Given the description of an element on the screen output the (x, y) to click on. 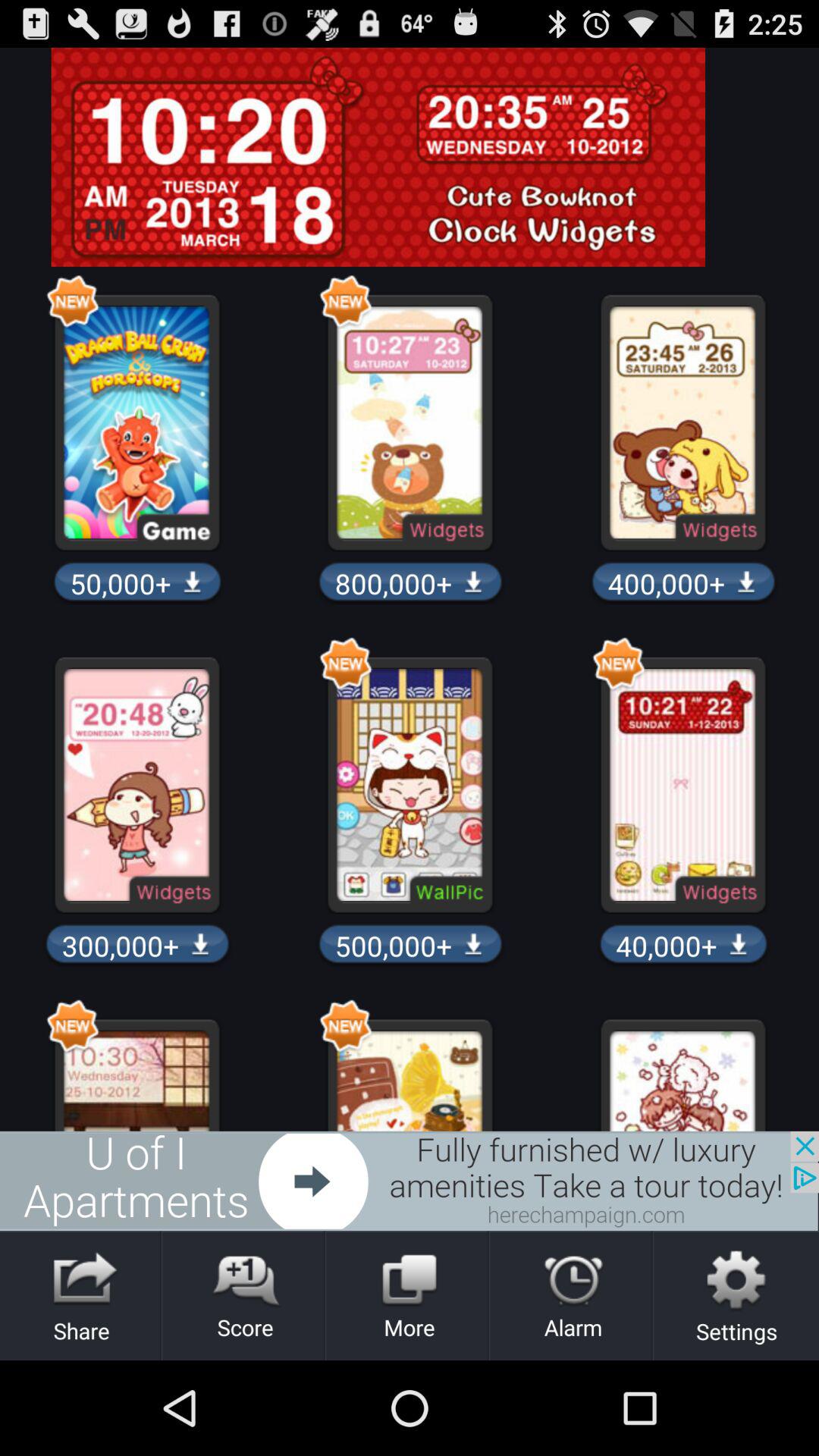
game (409, 1180)
